Given the description of an element on the screen output the (x, y) to click on. 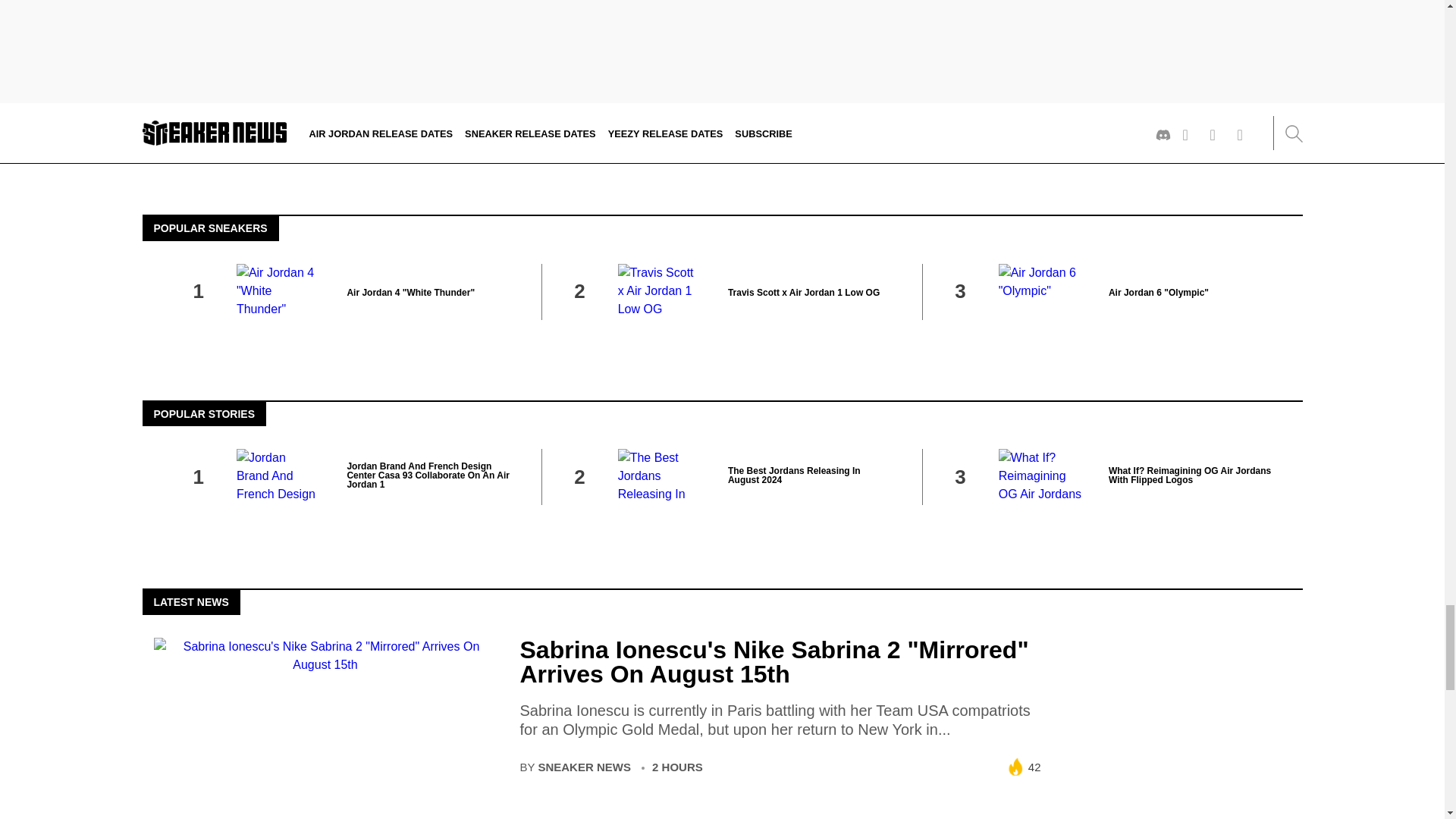
Air Jordan 4 "White Thunder" (410, 292)
Air Jordan 6 "Olympic" (1158, 292)
Travis Scott x Air Jordan 1 Low OG (803, 292)
